Given the description of an element on the screen output the (x, y) to click on. 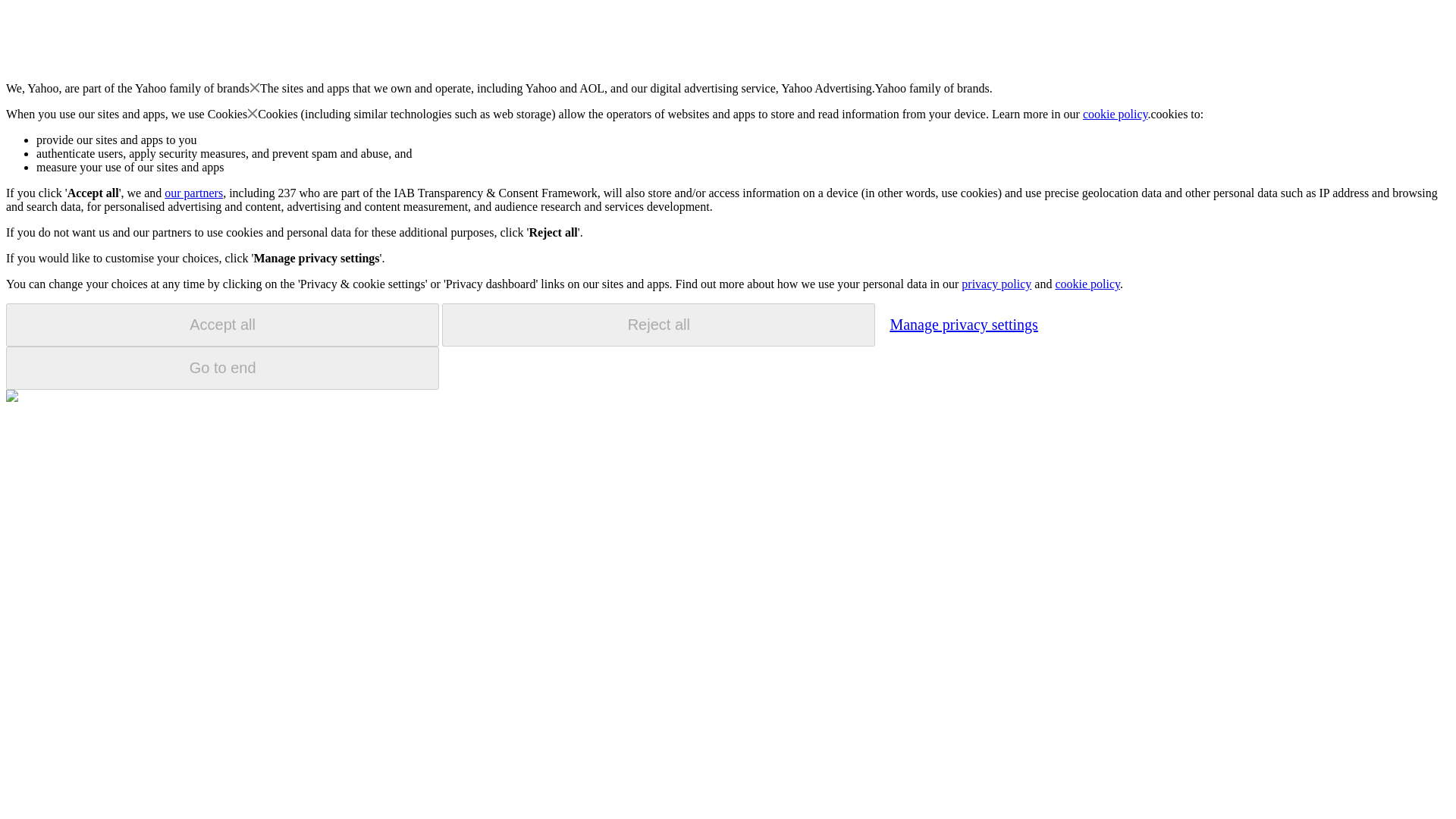
Go to end (222, 367)
cookie policy (1086, 283)
Reject all (658, 324)
cookie policy (1115, 113)
Accept all (222, 324)
our partners (193, 192)
privacy policy (995, 283)
Manage privacy settings (963, 323)
